Given the description of an element on the screen output the (x, y) to click on. 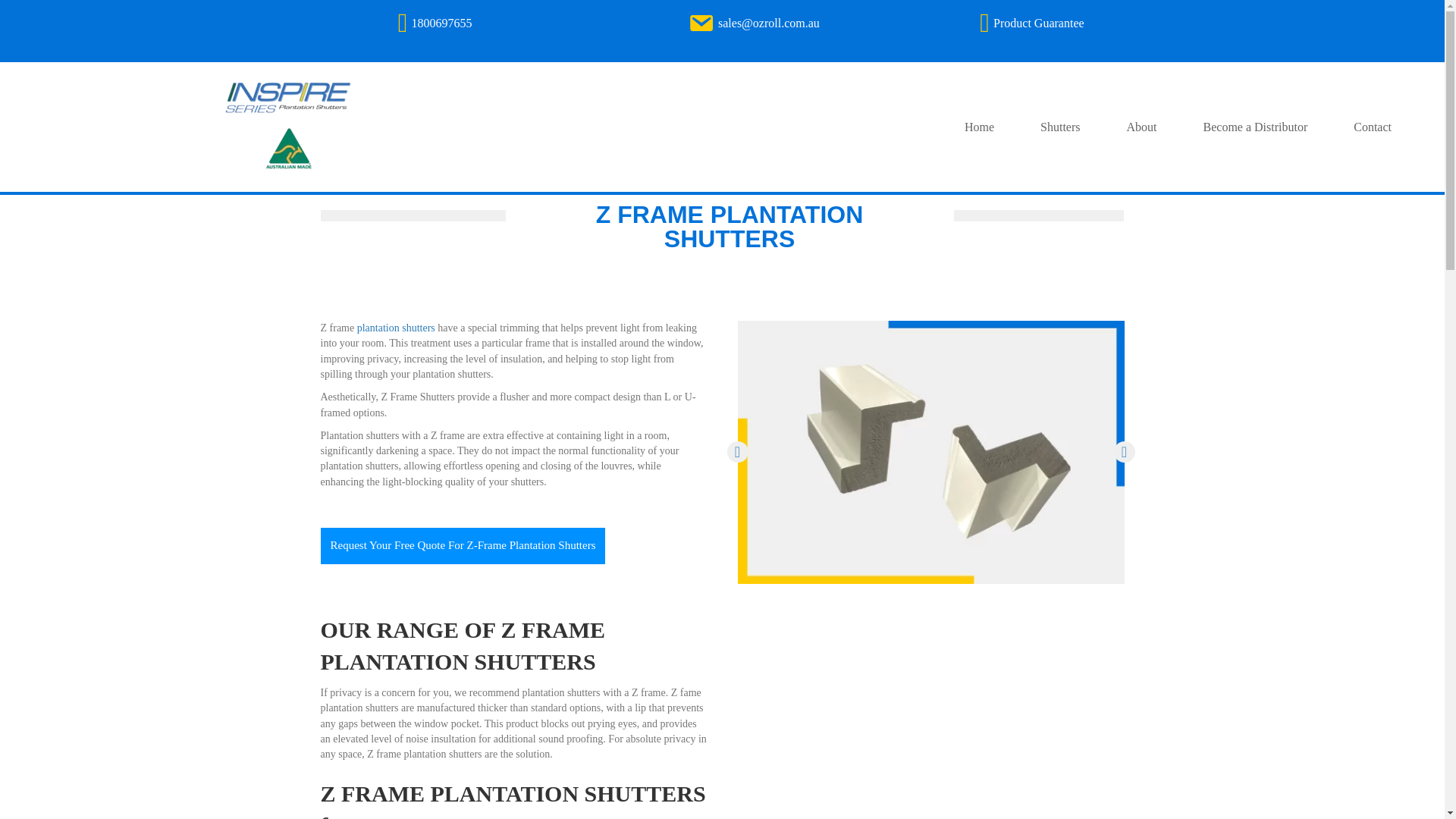
1800697655 (441, 22)
Product Guarantee (1038, 22)
Request Your Free Quote For Z-Frame Plantation Shutters (462, 545)
Z- FRAME (930, 452)
Inspire Plantation Shutters (287, 126)
Become a Distributor (1254, 126)
plantation shutters (395, 327)
